Given the description of an element on the screen output the (x, y) to click on. 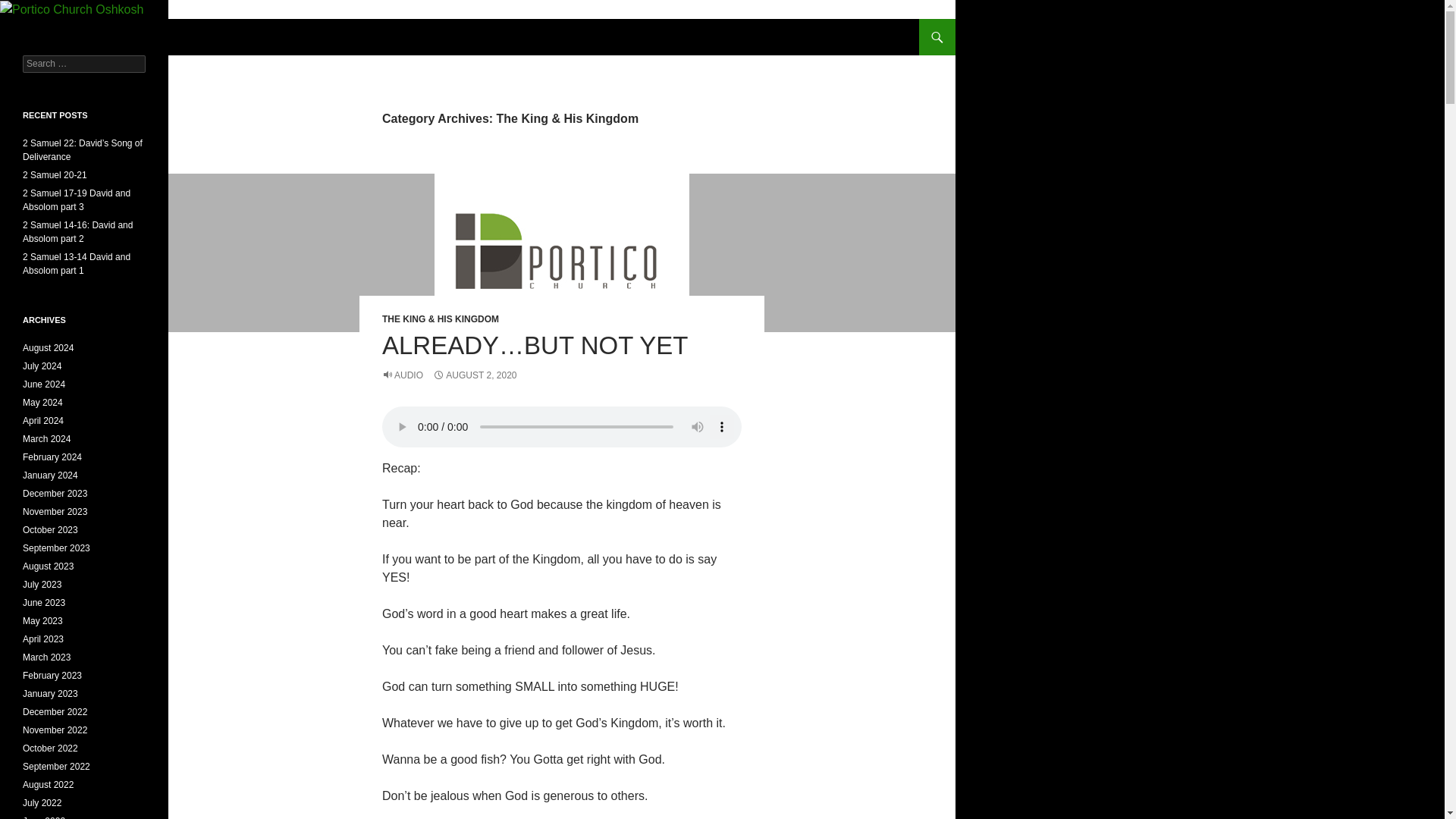
AUGUST 2, 2020 (474, 375)
Portico Church Oshkosh (103, 36)
AUDIO (402, 375)
